Given the description of an element on the screen output the (x, y) to click on. 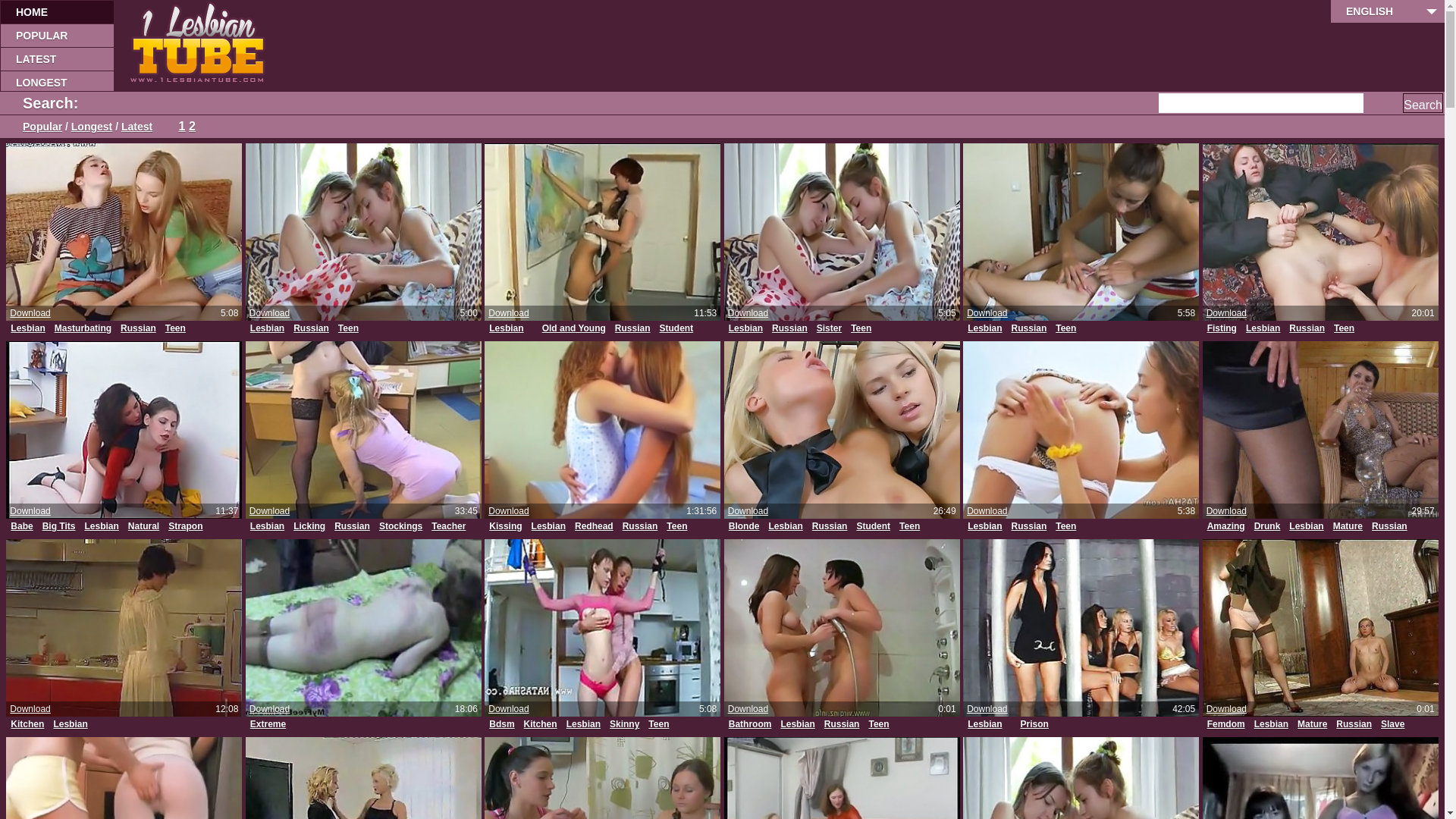
Fisting Element type: text (1221, 328)
1 Element type: text (181, 125)
Download Element type: text (986, 708)
Old and Young Element type: text (573, 328)
Strapon Element type: text (185, 526)
Mature Element type: text (1347, 526)
Licking Element type: text (309, 526)
Russian Element type: text (138, 328)
Lesbian Element type: text (267, 328)
HOME Element type: text (56, 11)
Teen Element type: text (175, 328)
Russian Element type: text (352, 526)
Lesbian Element type: text (70, 724)
Teen Element type: text (1065, 526)
Prison Element type: text (1034, 724)
Download Element type: text (269, 708)
LATEST Element type: text (56, 58)
Download Element type: text (748, 510)
Search Element type: text (1422, 102)
Amazing Element type: text (1226, 526)
2 Element type: text (191, 125)
Lesbian Element type: text (745, 328)
Teen Element type: text (348, 328)
Lesbian Element type: text (27, 328)
Download Element type: text (748, 312)
Big Tits Element type: text (58, 526)
Drunk Element type: text (1267, 526)
Download Element type: text (29, 312)
Download Element type: text (1226, 708)
Russian Element type: text (789, 328)
Russian Element type: text (1353, 724)
Bathroom Element type: text (750, 724)
Femdom Element type: text (1226, 724)
Teen Element type: text (260, 542)
Download Element type: text (748, 708)
Teen Element type: text (878, 724)
Download Element type: text (986, 510)
Download Element type: text (1226, 312)
Download Element type: text (508, 708)
Kitchen Element type: text (27, 724)
Teacher Element type: text (506, 344)
Mature Element type: text (1312, 724)
Russian Element type: text (829, 526)
Blonde Element type: text (743, 526)
Stockings Element type: text (400, 526)
Longest Element type: text (91, 126)
Lesbian Element type: text (797, 724)
Lesbian Element type: text (1306, 526)
Russian Element type: text (841, 724)
Slave Element type: text (1392, 724)
Latest Element type: text (136, 126)
Teen Element type: text (1343, 328)
Popular Element type: text (42, 126)
Lesbian Element type: text (984, 724)
Russian Element type: text (1389, 526)
Lesbian Element type: text (1262, 328)
Lesbian Element type: text (506, 328)
Natural Element type: text (143, 526)
LONGEST Element type: text (56, 82)
Teen Element type: text (676, 526)
Stockings Element type: text (1228, 740)
Lesbian Element type: text (984, 526)
Download Element type: text (269, 510)
Download Element type: text (508, 510)
POPULAR Element type: text (56, 35)
Lesbian Element type: text (785, 526)
Teen Element type: text (860, 328)
Download Element type: text (29, 510)
Russian Element type: text (1029, 526)
Download Element type: text (986, 312)
Kissing Element type: text (505, 526)
ENGLISH
X Element type: text (1387, 11)
Extreme Element type: text (267, 724)
Russian Element type: text (640, 526)
Student Element type: text (873, 526)
Lesbian Element type: text (1271, 724)
Teen Element type: text (658, 724)
Redhead Element type: text (593, 526)
Teen Element type: text (909, 526)
Lesbian Element type: text (583, 724)
Bdsm Element type: text (501, 724)
Russian Element type: text (1029, 328)
Kitchen Element type: text (540, 724)
Download Element type: text (508, 312)
Russian Element type: text (632, 328)
Teen Element type: text (1065, 328)
Russian Element type: text (1306, 328)
Skinny Element type: text (624, 724)
Download Element type: text (29, 708)
Lesbian Element type: text (548, 526)
Lesbian Element type: text (984, 328)
Russian Element type: text (311, 328)
Lesbian Element type: text (267, 526)
Download Element type: text (269, 312)
Download Element type: text (1226, 510)
Sister Element type: text (828, 328)
Babe Element type: text (21, 526)
Masturbating Element type: text (82, 328)
Student Element type: text (676, 328)
Teacher Element type: text (448, 526)
Teen Element type: text (542, 344)
Lesbian Element type: text (101, 526)
